Given the description of an element on the screen output the (x, y) to click on. 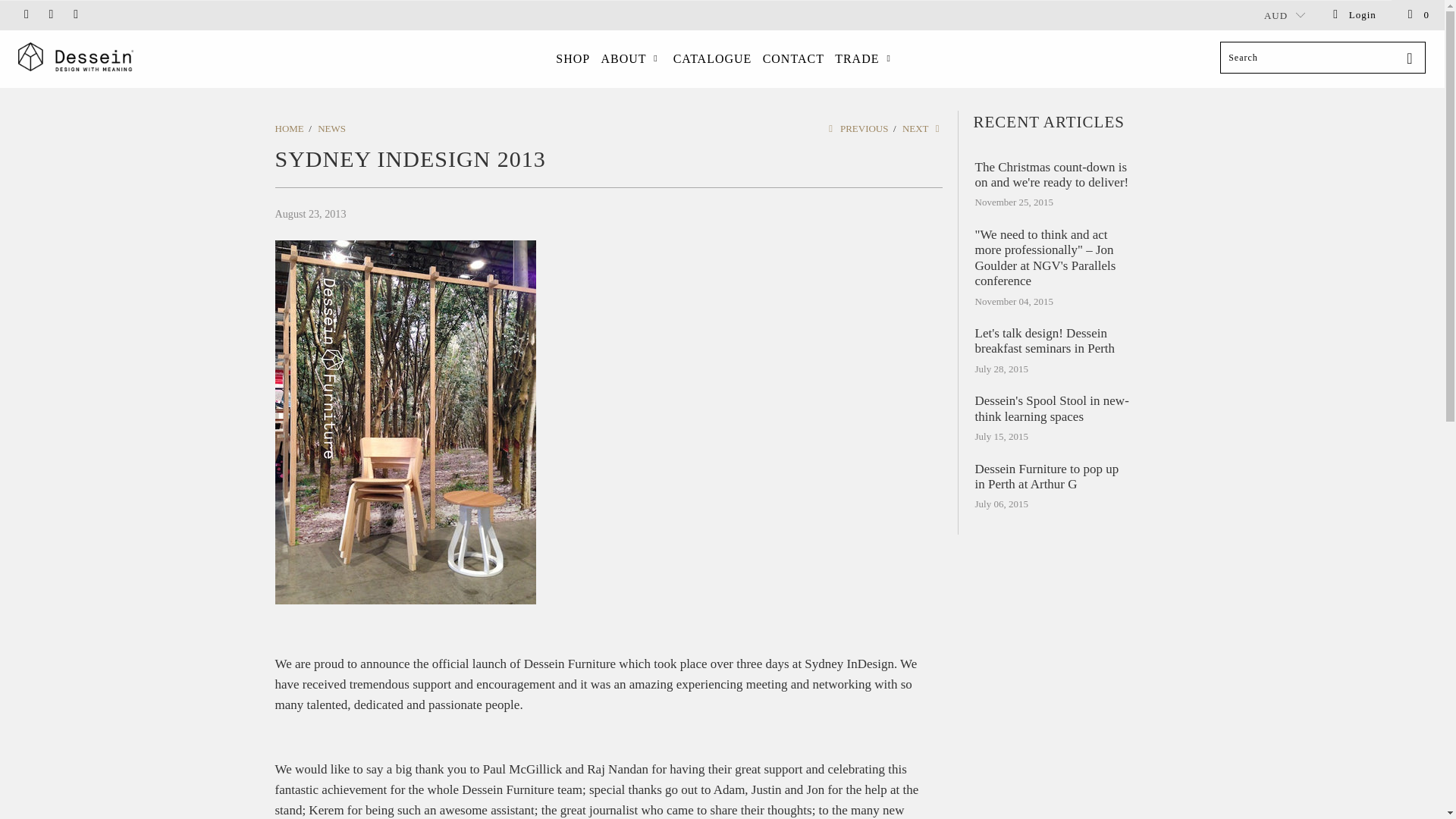
News (331, 128)
Email Dessein Furniture (74, 14)
Dessein Furniture on Facebook (25, 14)
My Account  (1353, 15)
Dessein's Spool Stool in new-think learning spaces (1052, 409)
Let's talk design! Dessein breakfast seminars in Perth (1052, 341)
Dessein Furniture (122, 58)
The Christmas count-down is on and we're ready to deliver! (1052, 174)
Dessein Furniture on Instagram (50, 14)
Dessein Furniture (288, 128)
